Given the description of an element on the screen output the (x, y) to click on. 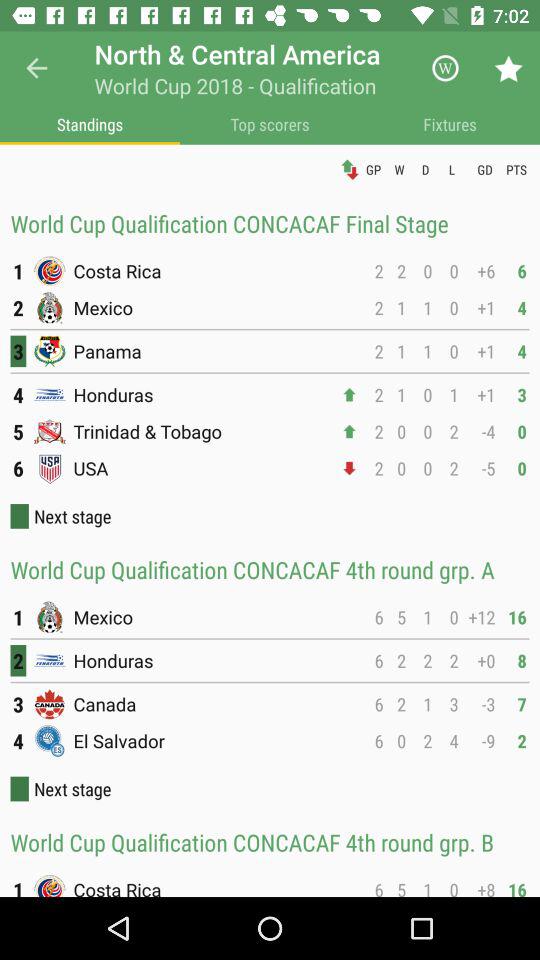
click item below world cup 2018 icon (270, 124)
